Given the description of an element on the screen output the (x, y) to click on. 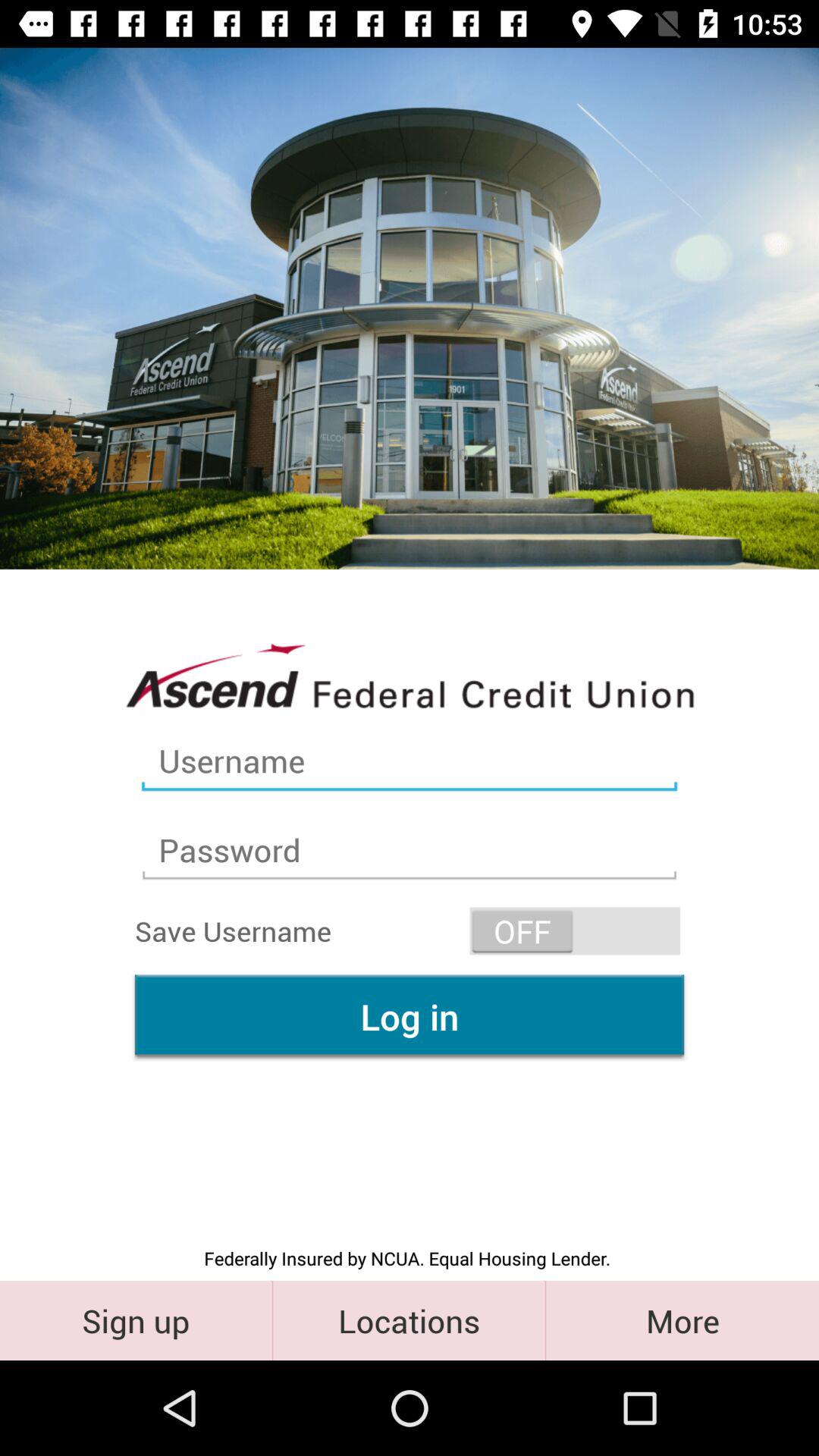
turn off item next to the sign up icon (409, 1320)
